Given the description of an element on the screen output the (x, y) to click on. 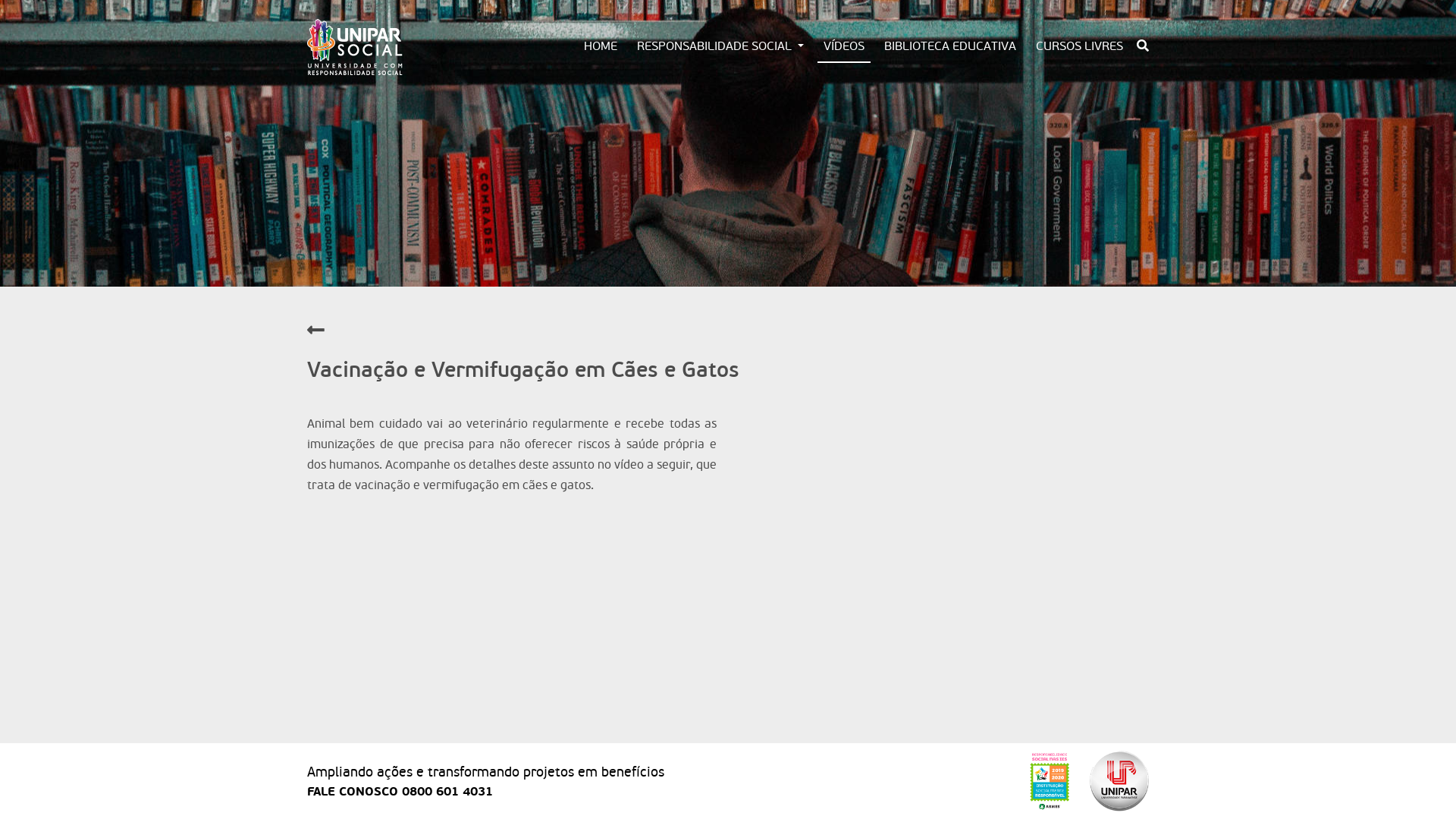
CURSOS LIVRES Element type: text (1079, 46)
BIBLIOTECA EDUCATIVA Element type: text (950, 46)
0800 601 4031 Element type: text (446, 791)
HOME Element type: text (600, 46)
RESPONSABILIDADE SOCIAL Element type: text (719, 46)
Voltar Element type: hover (315, 331)
UNIPAR - Universidade Paranaense Element type: hover (1118, 780)
Unipar Social Element type: hover (354, 46)
